Given the description of an element on the screen output the (x, y) to click on. 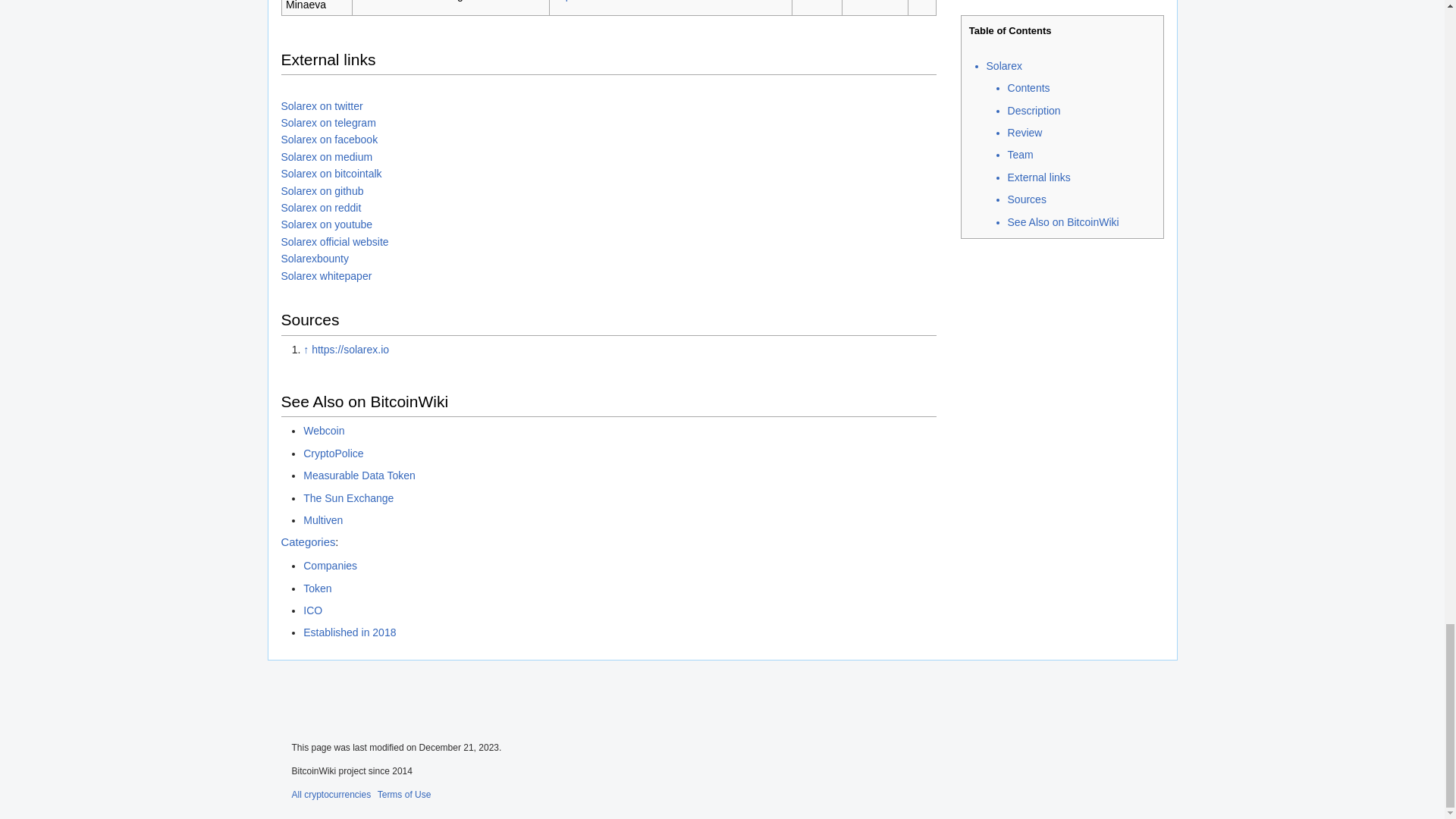
Solarex on bitcointalk (331, 173)
Solarex on youtube (326, 224)
Solarexbounty (315, 258)
The Sun Exchange (347, 498)
Multiven (322, 520)
Solarex on reddit (321, 207)
Category:Token (316, 588)
Solarex whitepaper (326, 275)
Solarex on telegram (328, 122)
CryptoPolice (332, 453)
Webcoin (322, 430)
Category:ICO (311, 610)
Special:Categories (307, 541)
Solarex on medium (326, 156)
Category:Established in 2018 (349, 632)
